Given the description of an element on the screen output the (x, y) to click on. 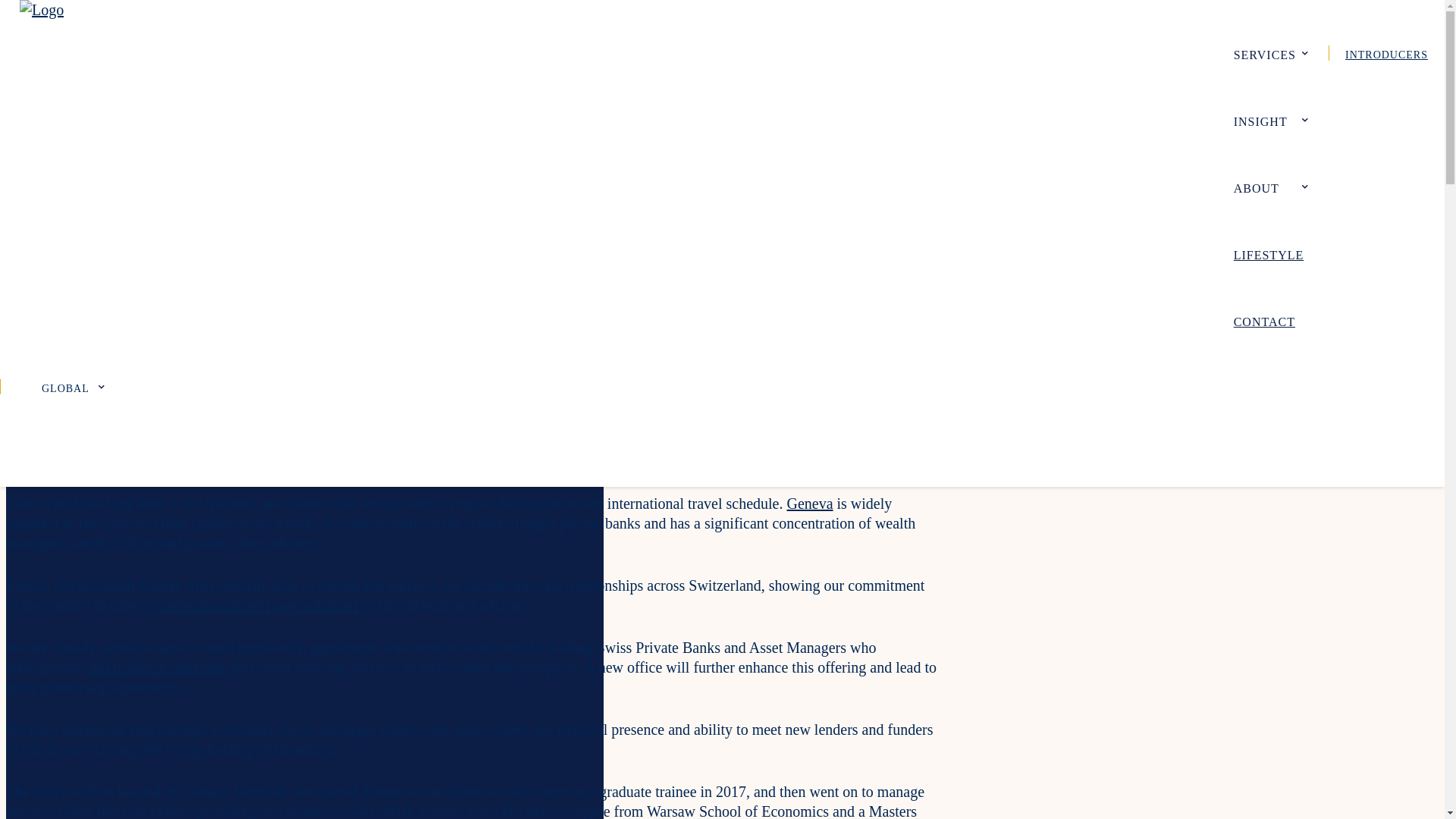
Insight (1270, 119)
SERVICES (1270, 52)
Services (1270, 52)
Logo (42, 9)
About (1270, 186)
